Given the description of an element on the screen output the (x, y) to click on. 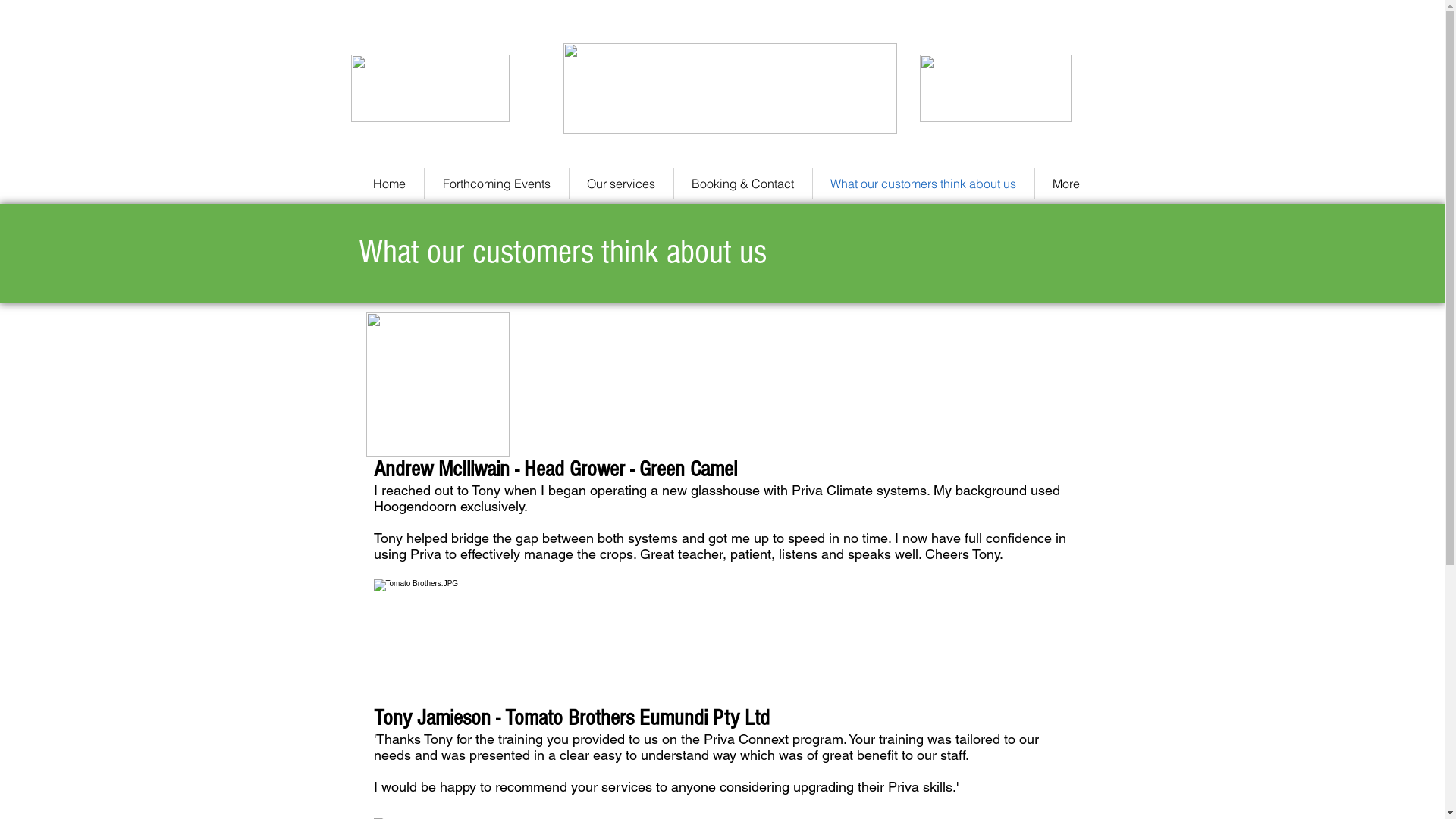
What our customers think about us Element type: text (923, 183)
Green Camel logo.JPG Element type: hover (436, 384)
Booking & Contact Element type: text (742, 183)
Home Element type: text (388, 183)
Forthcoming Events Element type: text (496, 183)
Our services Element type: text (620, 183)
